Given the description of an element on the screen output the (x, y) to click on. 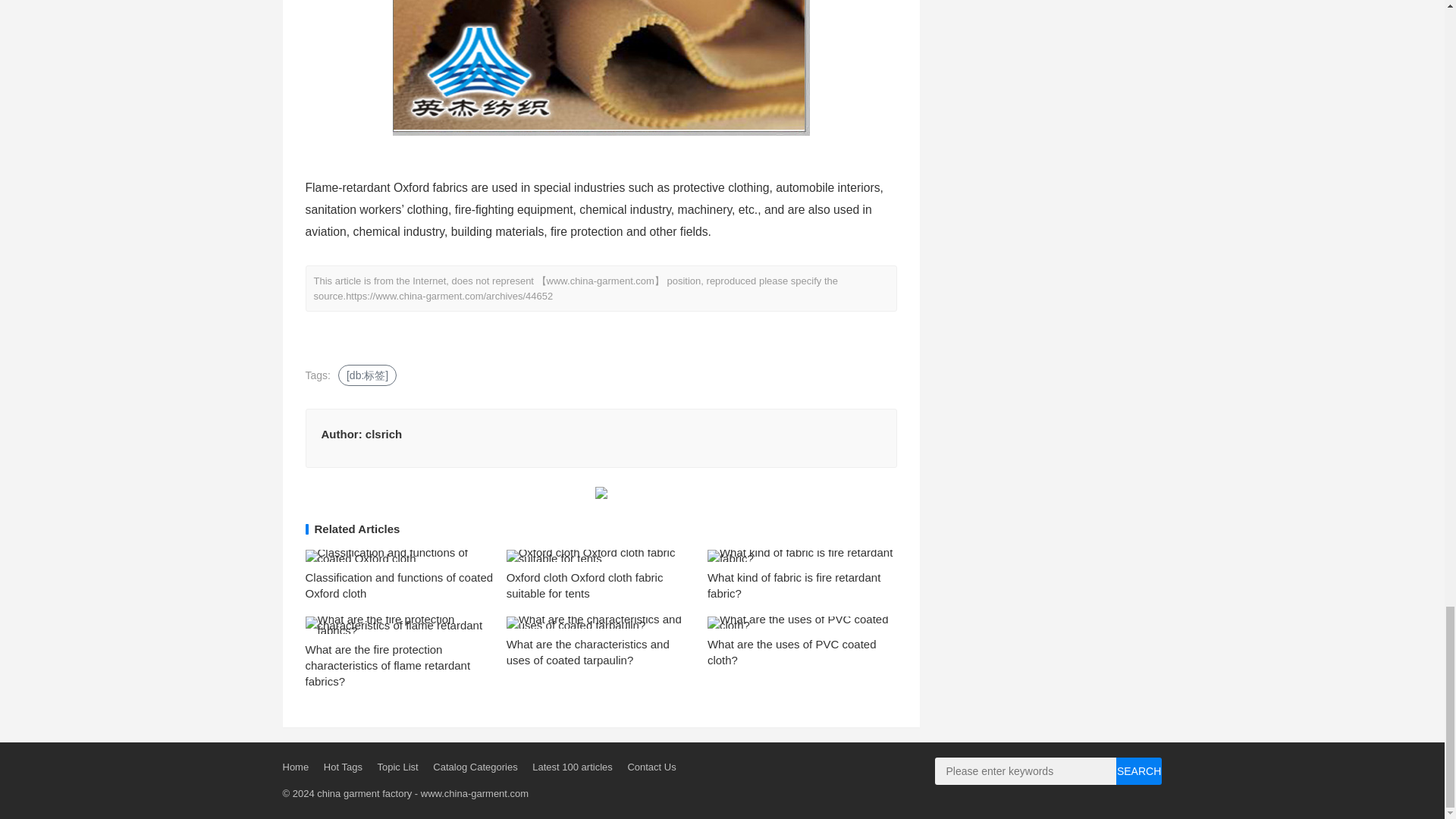
What are the uses of PVC coated cloth? (791, 652)
5adf386c408fd.jpg (601, 67)
clsrich (383, 433)
What kind of fabric is fire retardant fabric? (793, 584)
What are the characteristics and uses of coated tarpaulin? (587, 652)
Oxford cloth Oxford cloth fabric suitable for tents (584, 584)
Classification and functions of coated Oxford cloth (398, 584)
